Given the description of an element on the screen output the (x, y) to click on. 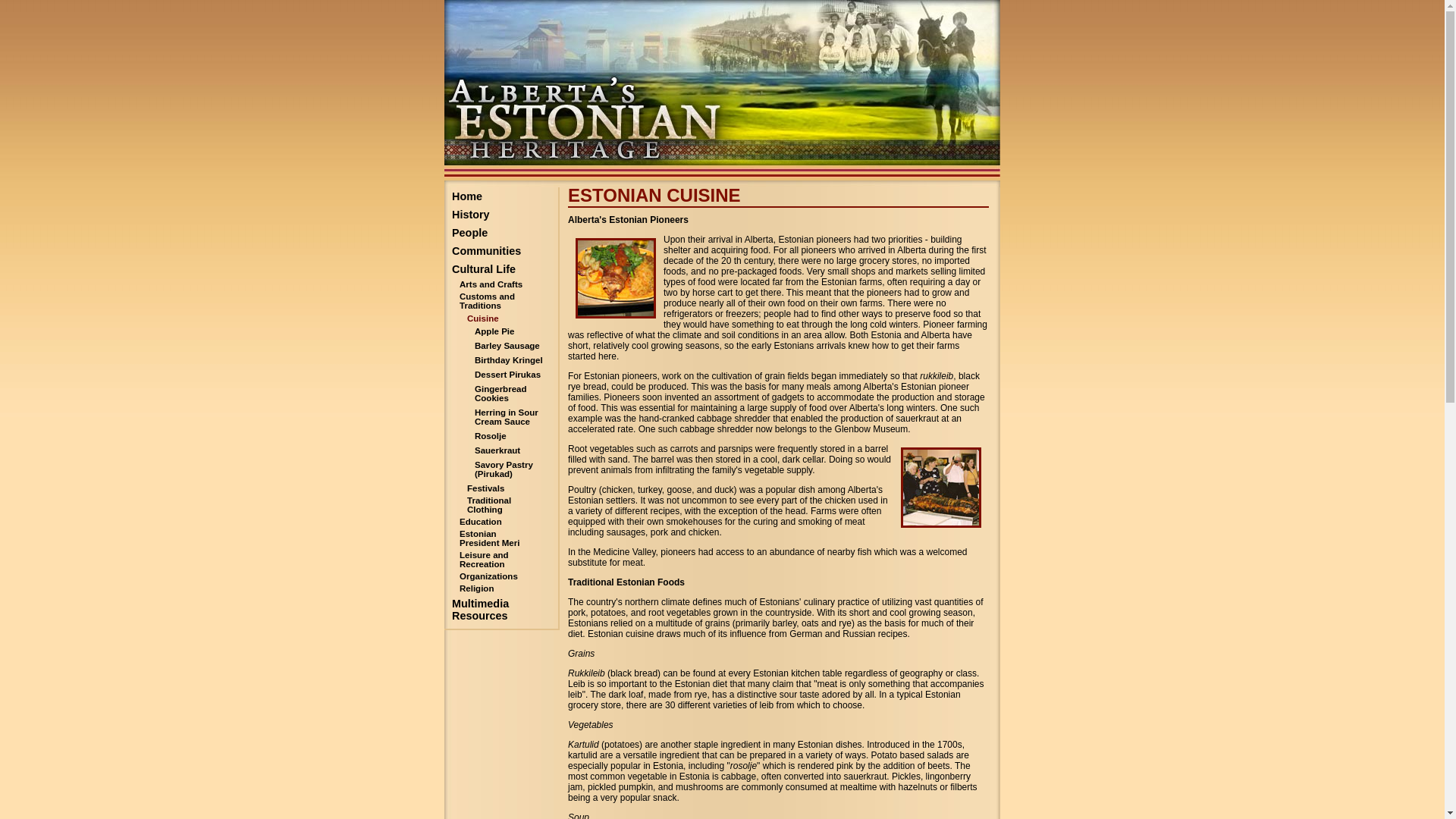
Sauerkraut Element type: text (504, 451)
Customs and Traditions Element type: text (497, 300)
Arts and Crafts Element type: text (497, 284)
Home Element type: text (501, 196)
Traditional Clothing Element type: text (501, 504)
Education Element type: text (497, 521)
Organizations Element type: text (497, 576)
Religion Element type: text (497, 588)
Apple Pie Element type: text (504, 332)
Rosolje Element type: text (504, 436)
Cultural Life Element type: text (501, 269)
Herring in Sour Cream Sauce Element type: text (504, 417)
Gingerbread Cookies Element type: text (504, 394)
Barley Sausage Element type: text (504, 346)
Birthday Kringel Element type: text (504, 361)
Savory Pastry (Pirukad) Element type: text (504, 470)
History Element type: text (501, 214)
Communities Element type: text (501, 250)
Festivals Element type: text (501, 488)
Leisure and Recreation Element type: text (497, 559)
People Element type: text (501, 232)
Dessert Pirukas Element type: text (504, 375)
Multimedia Resources Element type: text (501, 609)
Estonian President Meri Element type: text (497, 538)
